Given the description of an element on the screen output the (x, y) to click on. 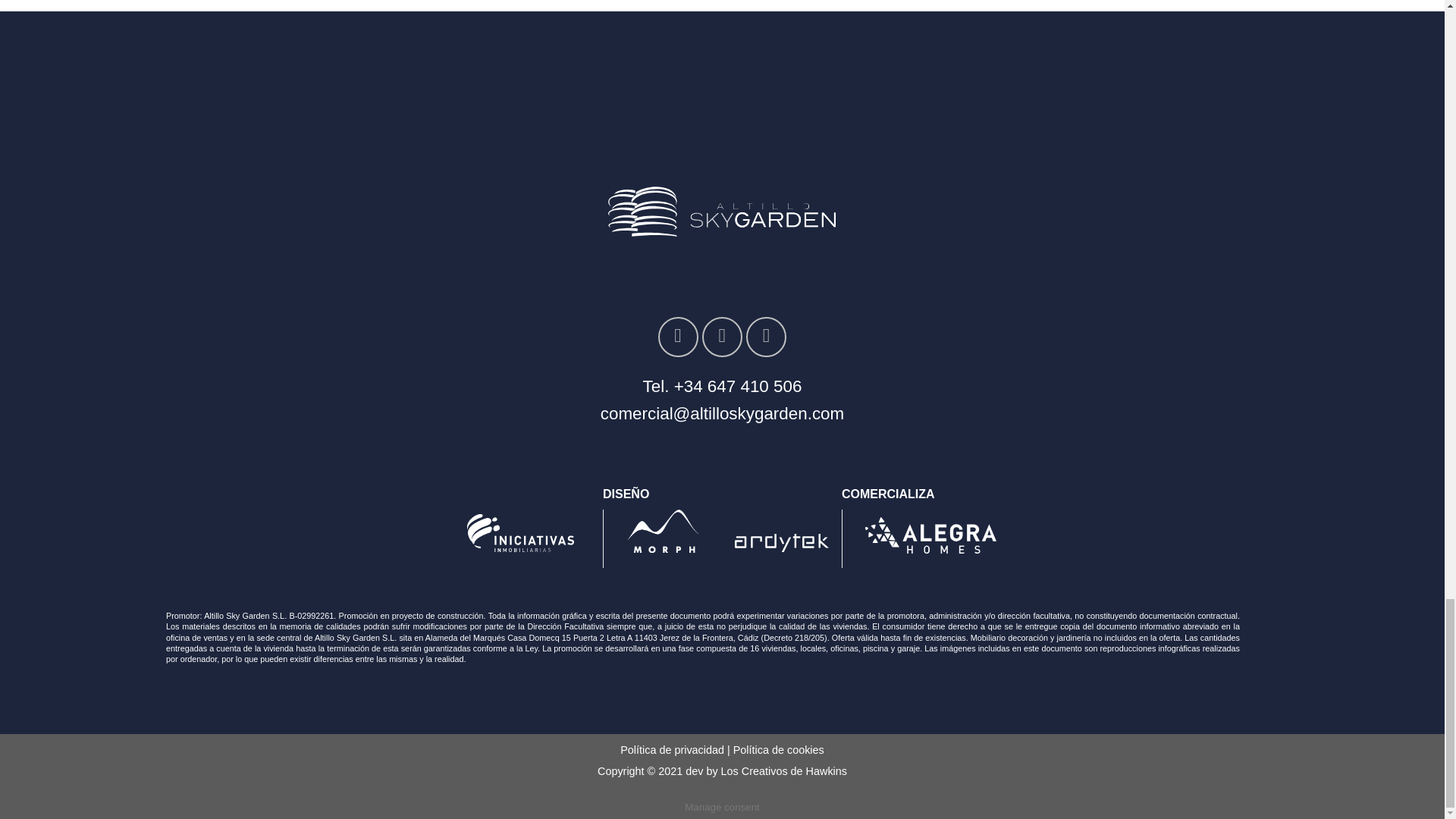
Los Creativos de Hawkins (783, 770)
